Given the description of an element on the screen output the (x, y) to click on. 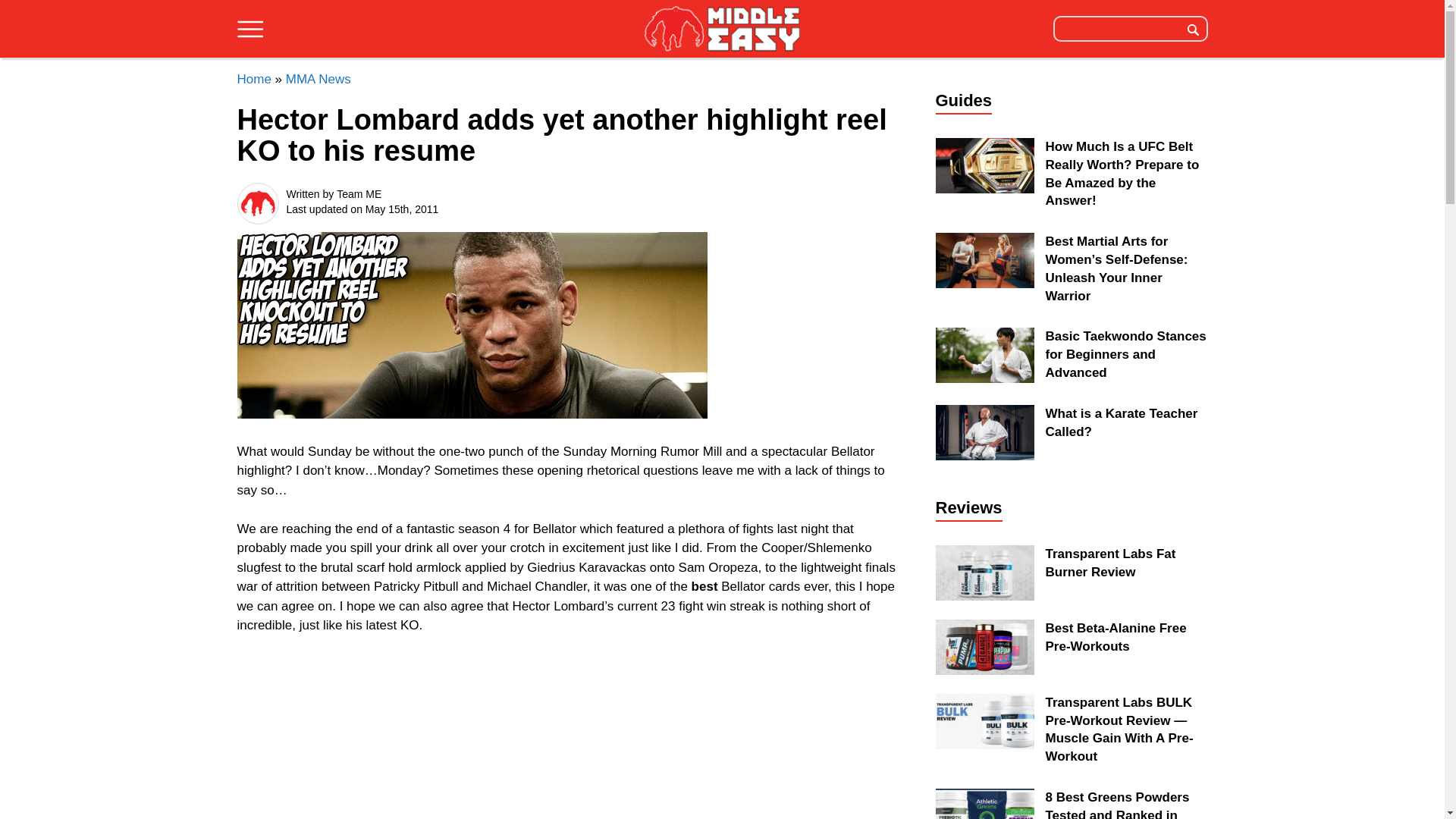
MiddleEasy (721, 29)
GO (1193, 28)
MiddleEasy (721, 28)
